Given the description of an element on the screen output the (x, y) to click on. 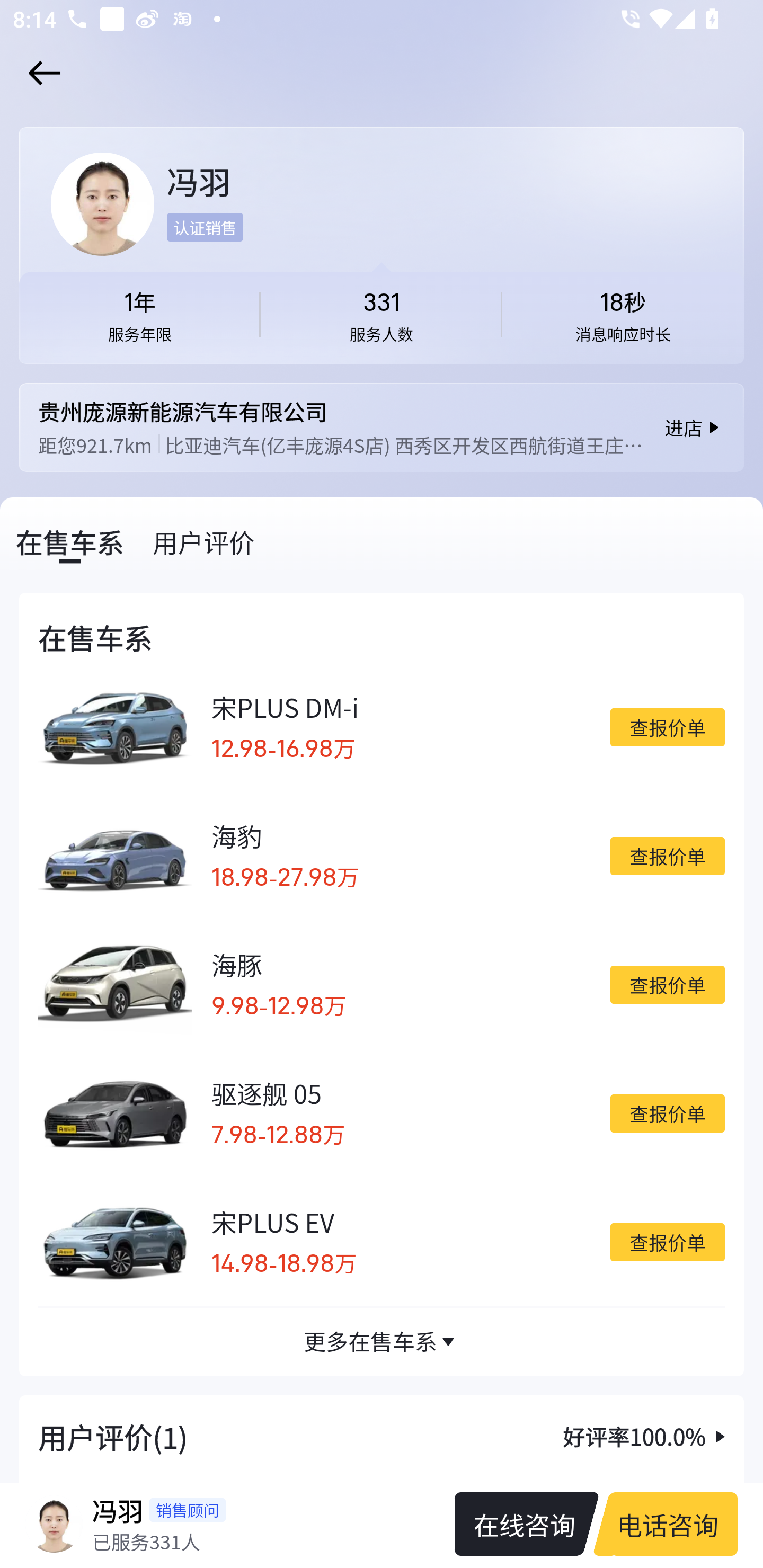
 (41, 72)
认证销售 (205, 227)
在售车系 (70, 541)
用户评价 (203, 541)
宋PLUS DM-i 12.98 - 16.98 万 查报价单 (381, 727)
查报价单 (666, 726)
海豹 18.98 - 27.98 万 查报价单 (381, 855)
查报价单 (666, 854)
海豚 9.98 - 12.98 万 查报价单 (381, 984)
查报价单 (666, 984)
驱逐舰 05 7.98 - 12.88 万 查报价单 (381, 1112)
查报价单 (666, 1112)
宋PLUS EV 14.98 - 18.98 万 查报价单 (381, 1241)
查报价单 (666, 1241)
更多在售车系 (381, 1341)
好评率100.0% (646, 1436)
在线咨询 (517, 1523)
电话咨询 (672, 1523)
